Given the description of an element on the screen output the (x, y) to click on. 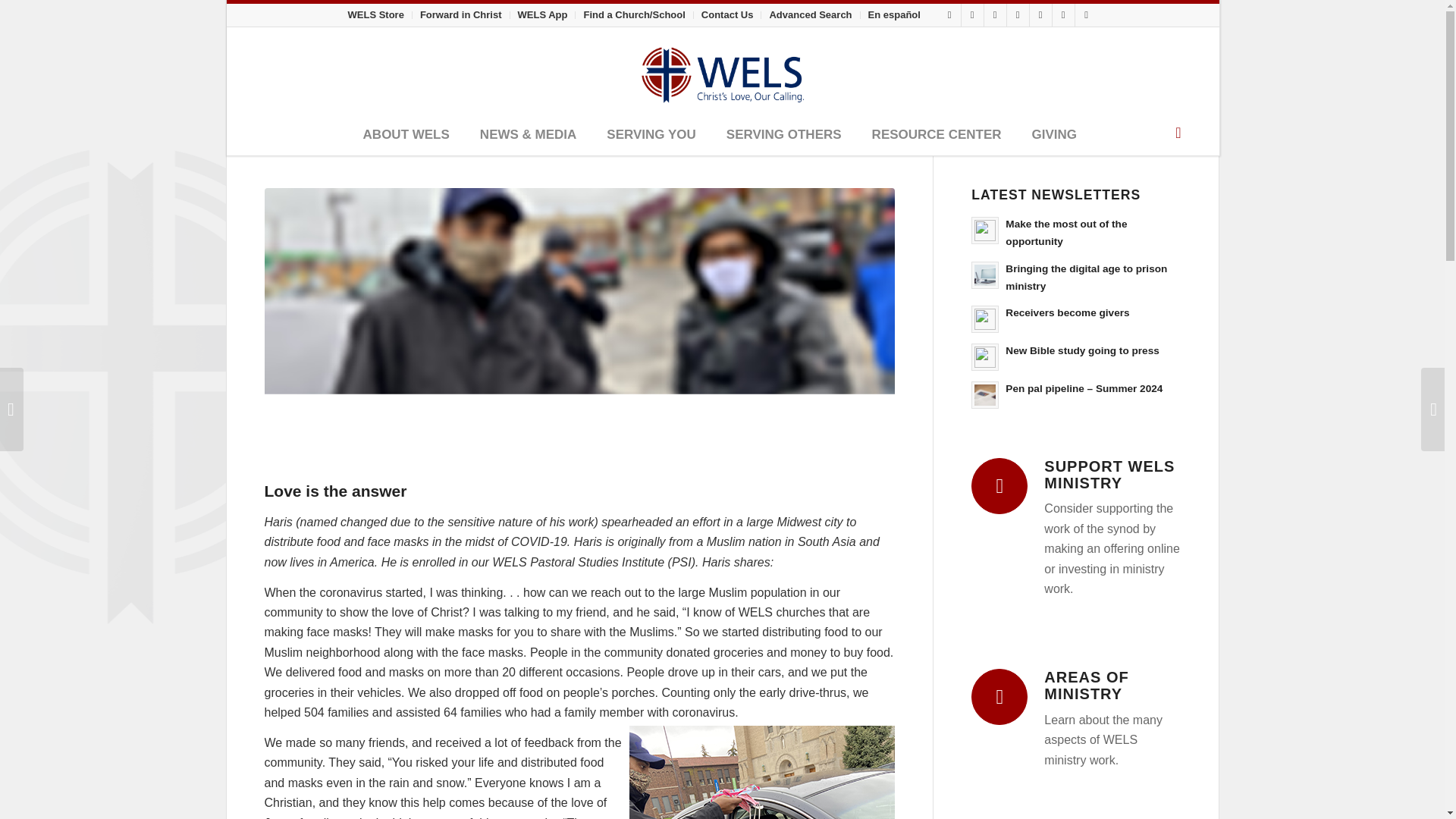
WELSnet-Logo-2021 (722, 71)
Forward in Christ (461, 14)
Contact Us (727, 14)
WELS Store (375, 14)
Advanced Search (809, 14)
ABOUT WELS (405, 135)
WELS App (542, 14)
Instagram (972, 15)
Facebook (949, 15)
